Given the description of an element on the screen output the (x, y) to click on. 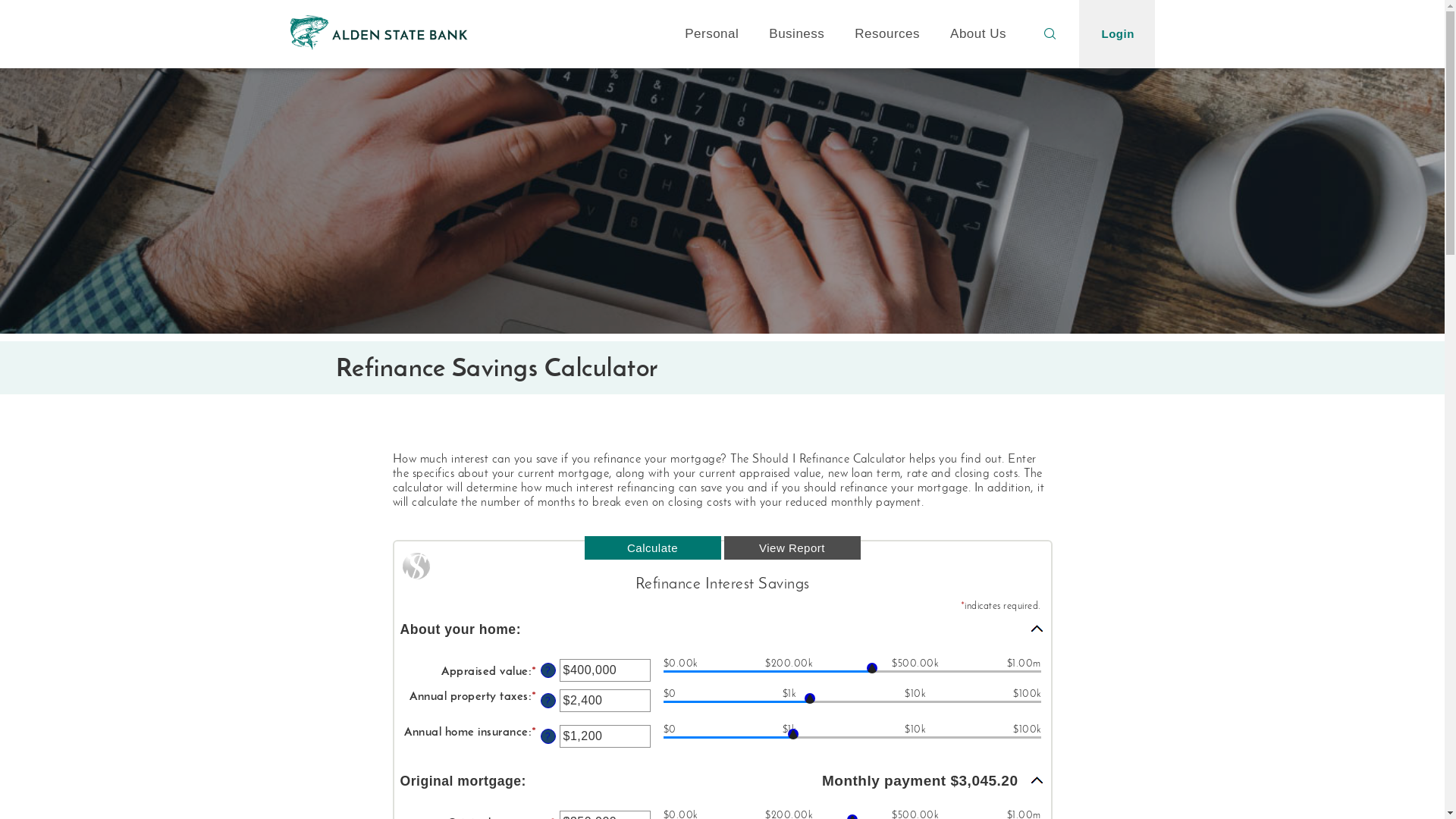
? Element type: text (547, 735)
Annual home insurance slider Element type: hover (851, 739)
Alden State Bank, Alden, MI Element type: hover (378, 32)
? Element type: text (547, 700)
Login Element type: text (1116, 34)
Annual property taxes slider Element type: hover (851, 704)
Appraised value slider Element type: hover (851, 673)
? Element type: text (547, 669)
Search Element type: text (1050, 34)
